Given the description of an element on the screen output the (x, y) to click on. 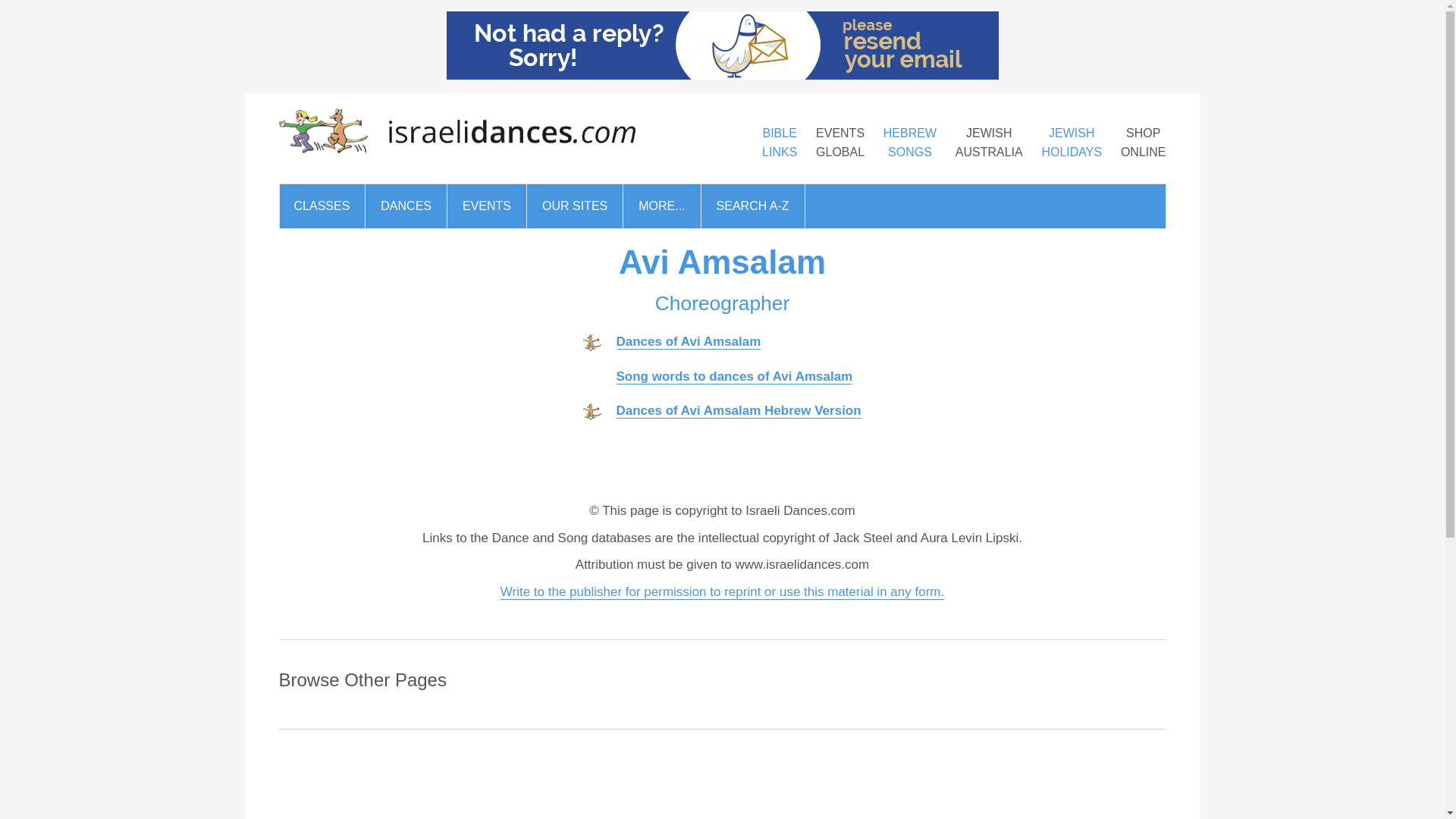
OUR SITES (575, 206)
EVENTS (485, 206)
DANCES (405, 206)
CLASSES (839, 142)
MORE... (909, 142)
